Given the description of an element on the screen output the (x, y) to click on. 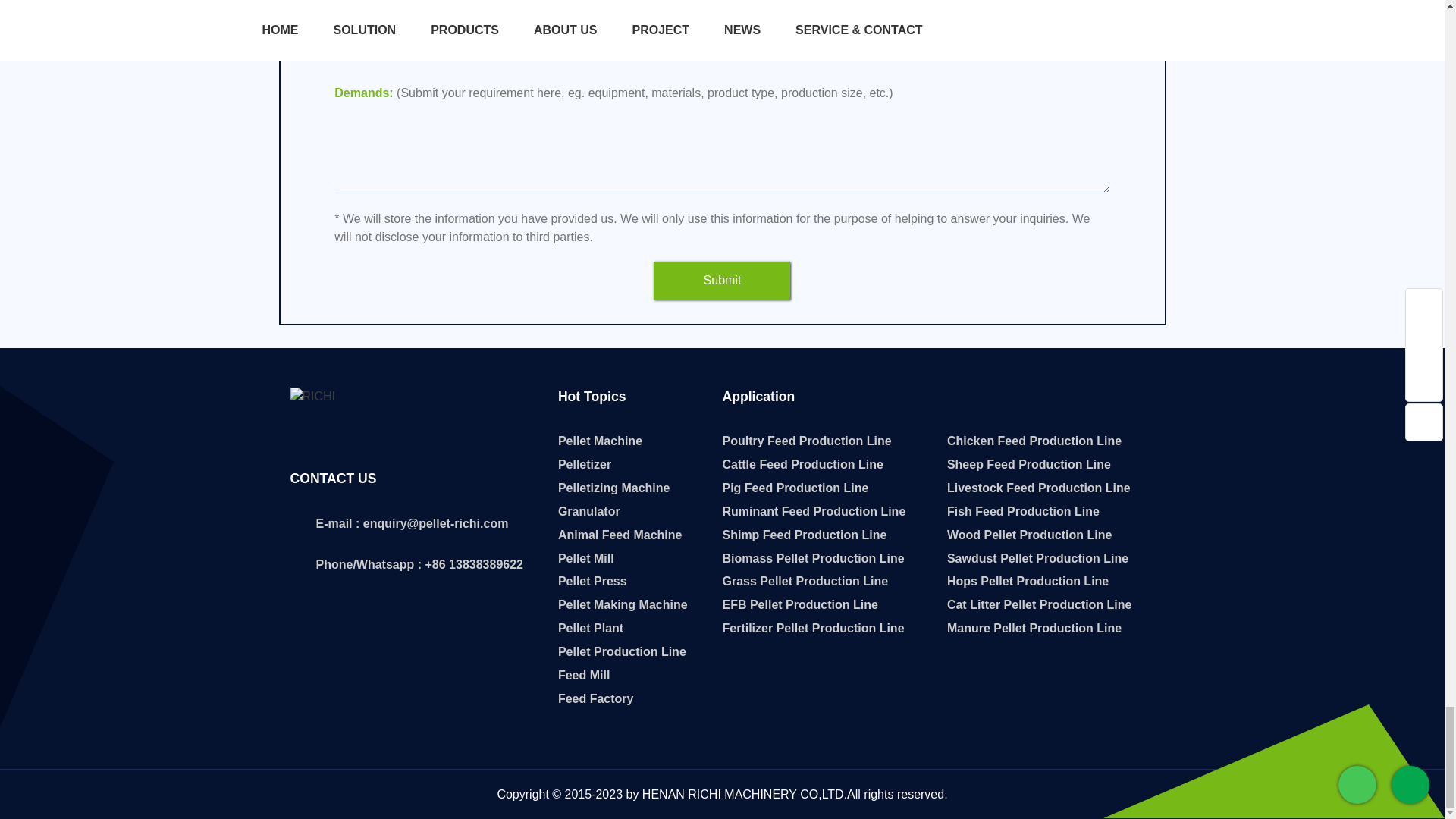
Submit (721, 280)
